Given the description of an element on the screen output the (x, y) to click on. 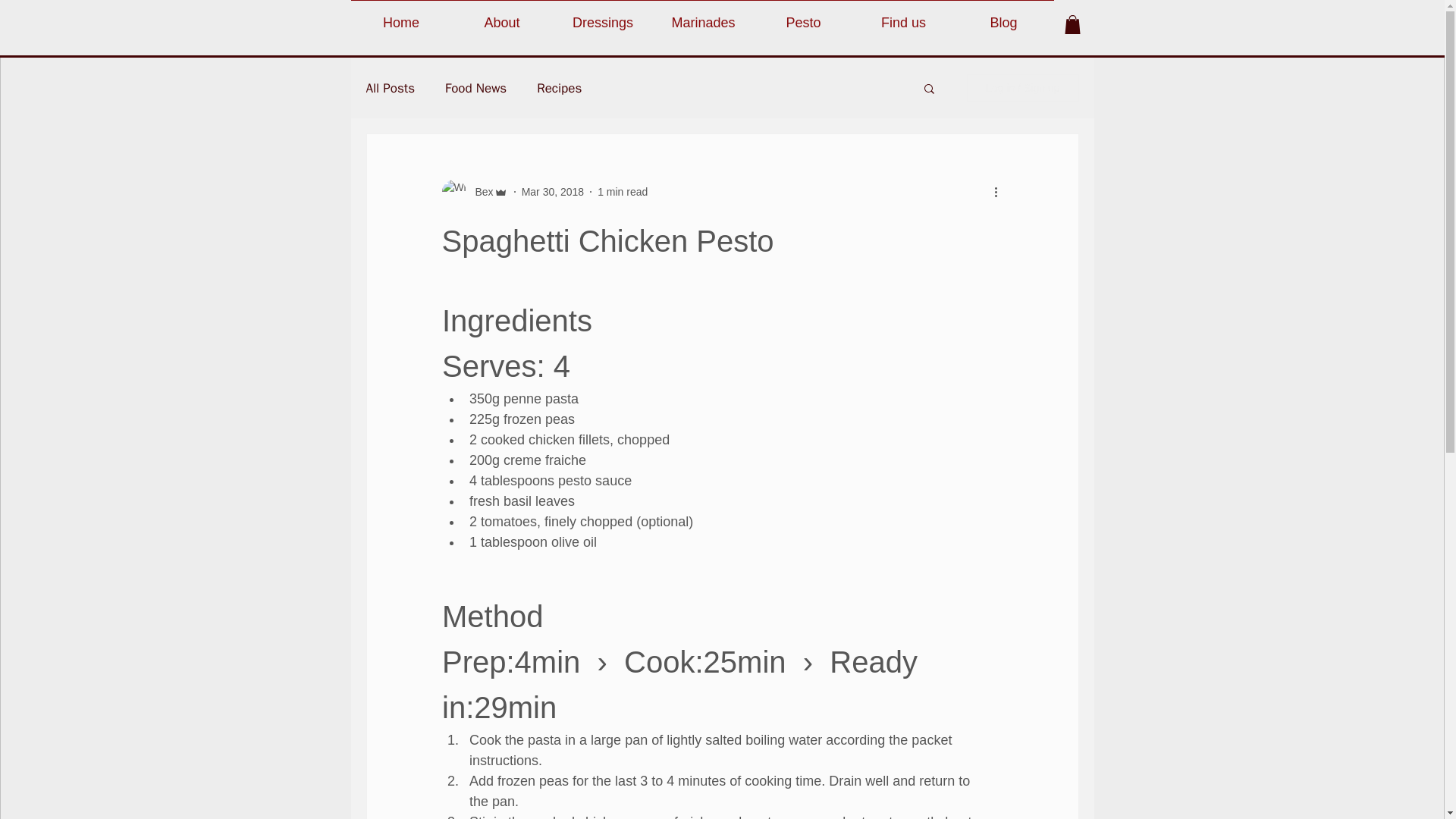
Home (400, 15)
Pesto (803, 15)
Marinades (703, 15)
All Posts (389, 87)
Dressings (601, 15)
Bex (479, 191)
1 min read (621, 191)
Find us (903, 15)
Food News (475, 87)
Blog (1003, 15)
About (502, 15)
Mar 30, 2018 (553, 191)
Recipes (558, 87)
